Given the description of an element on the screen output the (x, y) to click on. 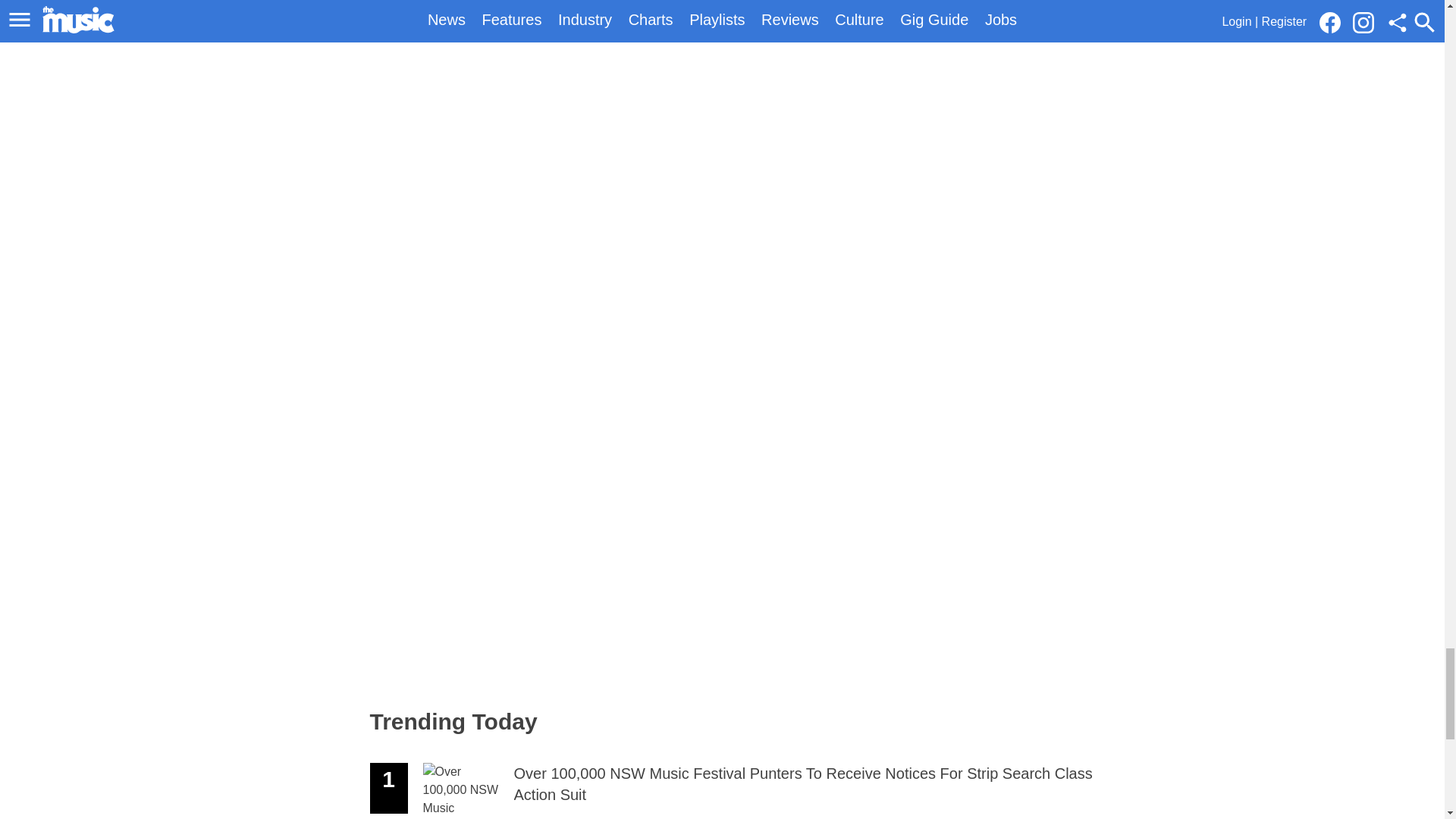
Spotify Embed: Inhuman (588, 547)
